Given the description of an element on the screen output the (x, y) to click on. 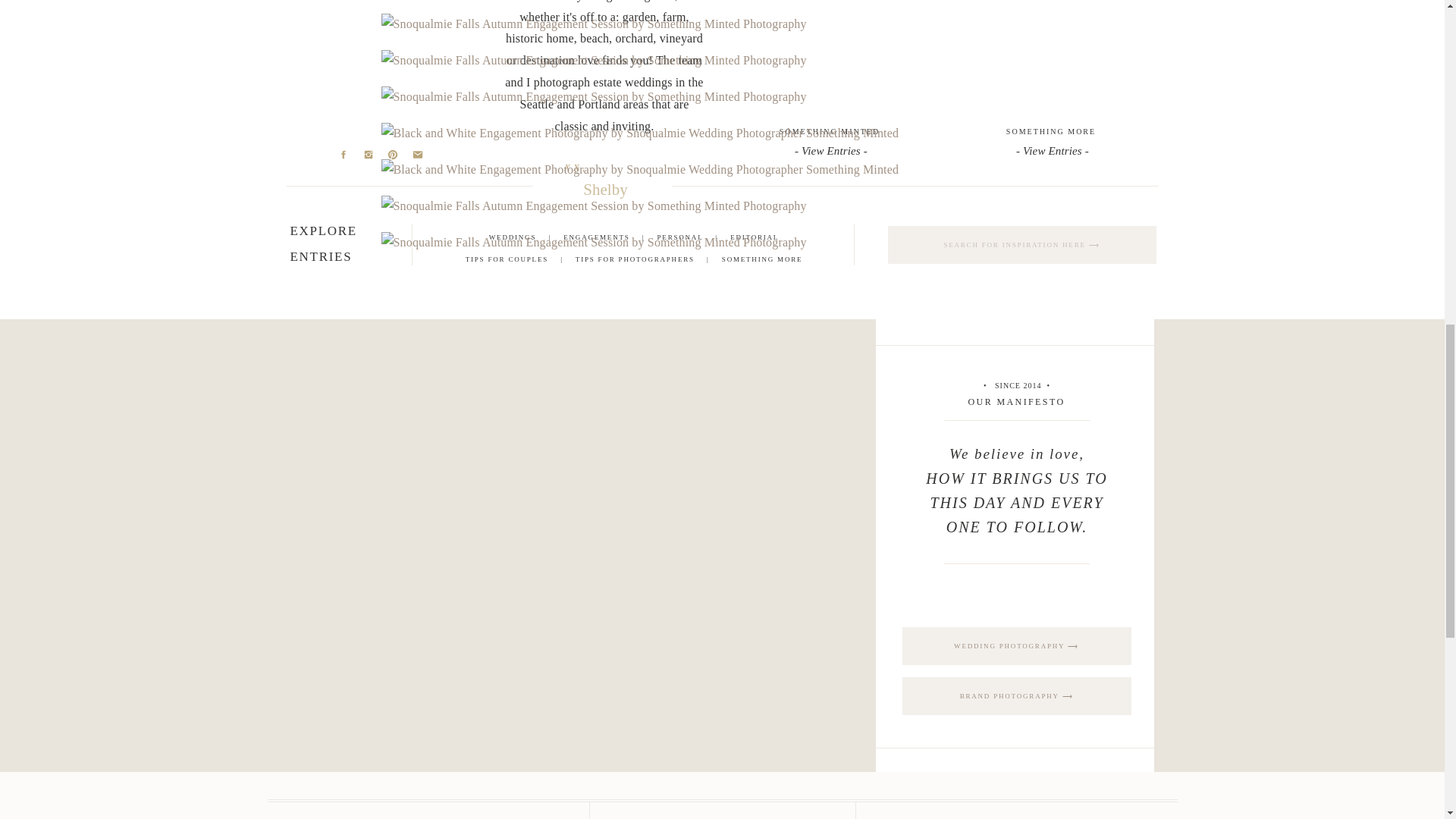
Post Comment (424, 100)
yes (388, 30)
Post Comment (424, 100)
WEDDINGS (512, 236)
